Given the description of an element on the screen output the (x, y) to click on. 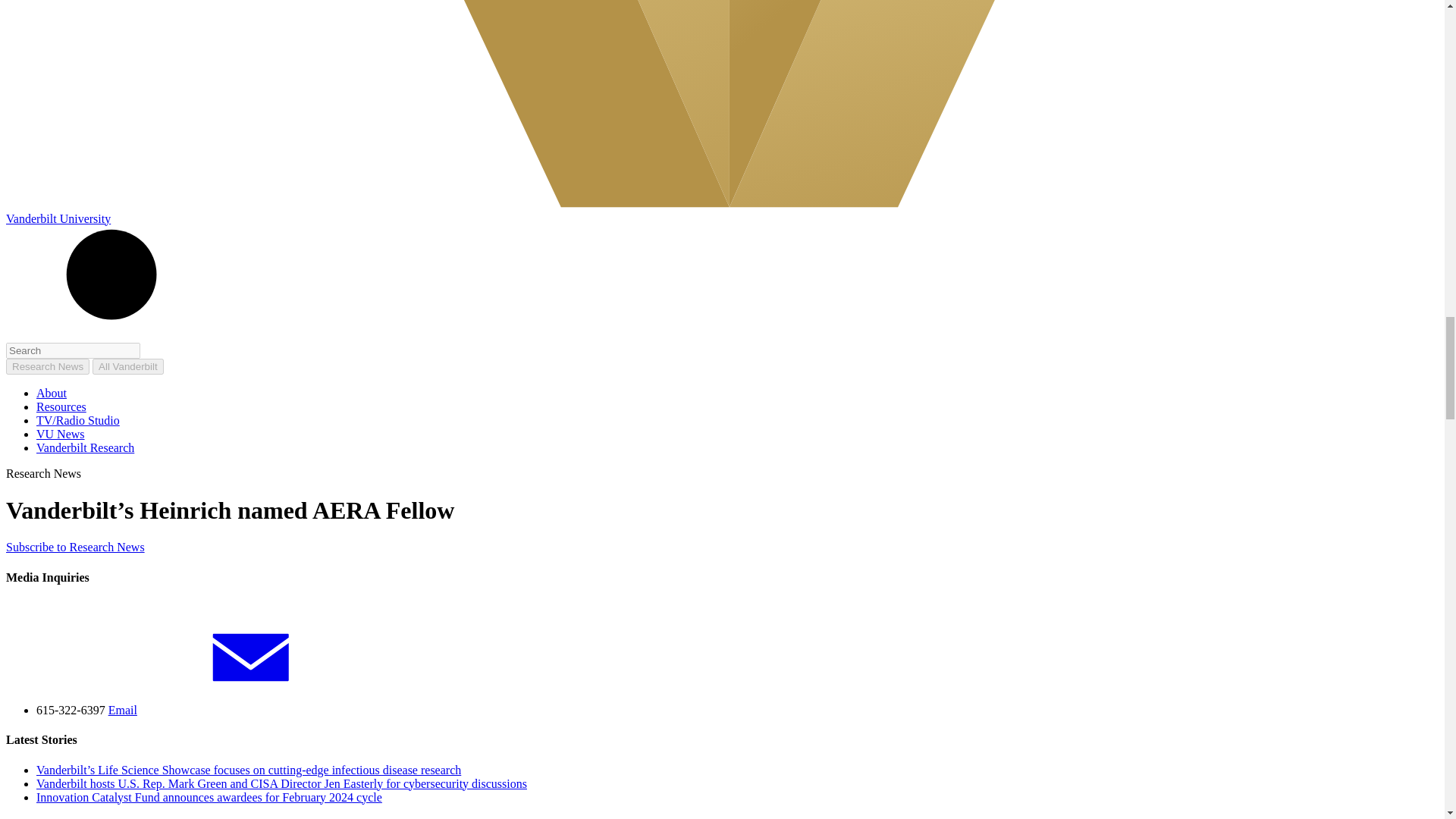
Subscribe to Research News (74, 546)
VU News (60, 433)
Resources (60, 406)
Email (236, 709)
Research News (46, 366)
All Vanderbilt (128, 366)
About (51, 392)
Vanderbilt Research (84, 447)
